Given the description of an element on the screen output the (x, y) to click on. 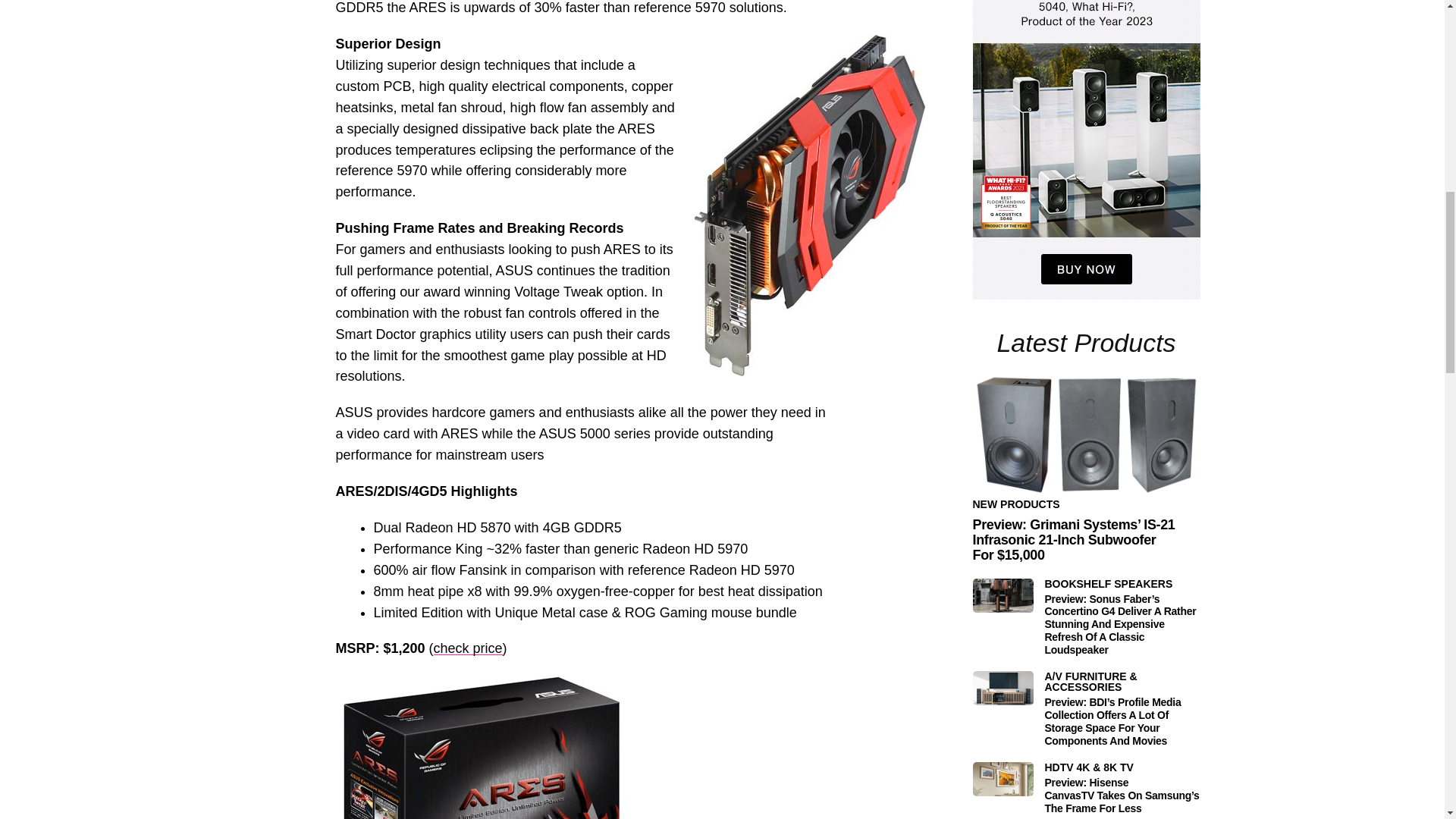
3rd party ad content (1085, 149)
